Given the description of an element on the screen output the (x, y) to click on. 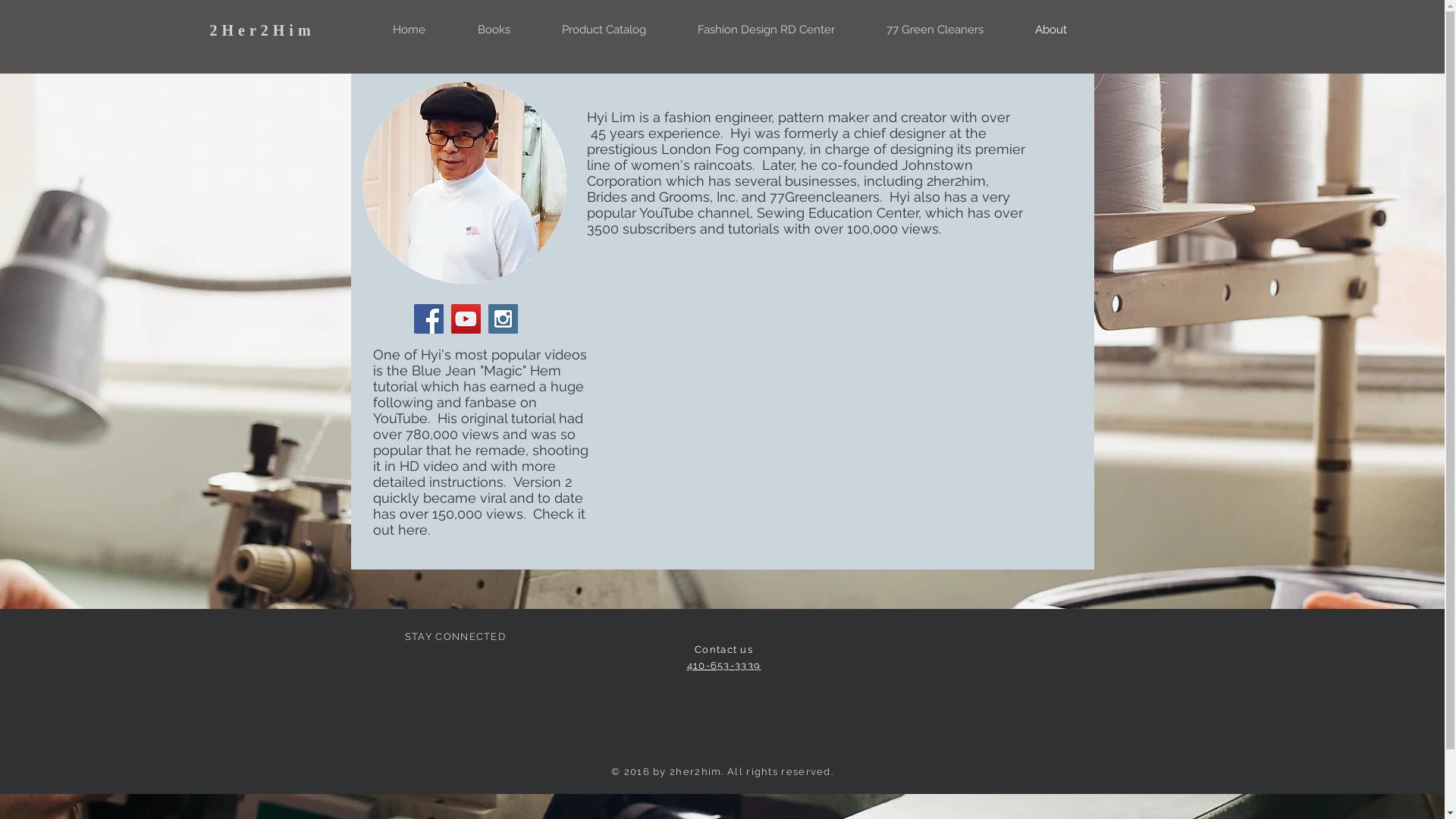
About Element type: text (1050, 29)
External YouTube Element type: hover (813, 425)
410-653-3339 Element type: text (724, 665)
Product Catalog Element type: text (603, 29)
Books Element type: text (493, 29)
Fashion Design RD Center Element type: text (765, 29)
2Her2Him Element type: text (261, 29)
77 Green Cleaners Element type: text (933, 29)
Home Element type: text (409, 29)
